Given the description of an element on the screen output the (x, y) to click on. 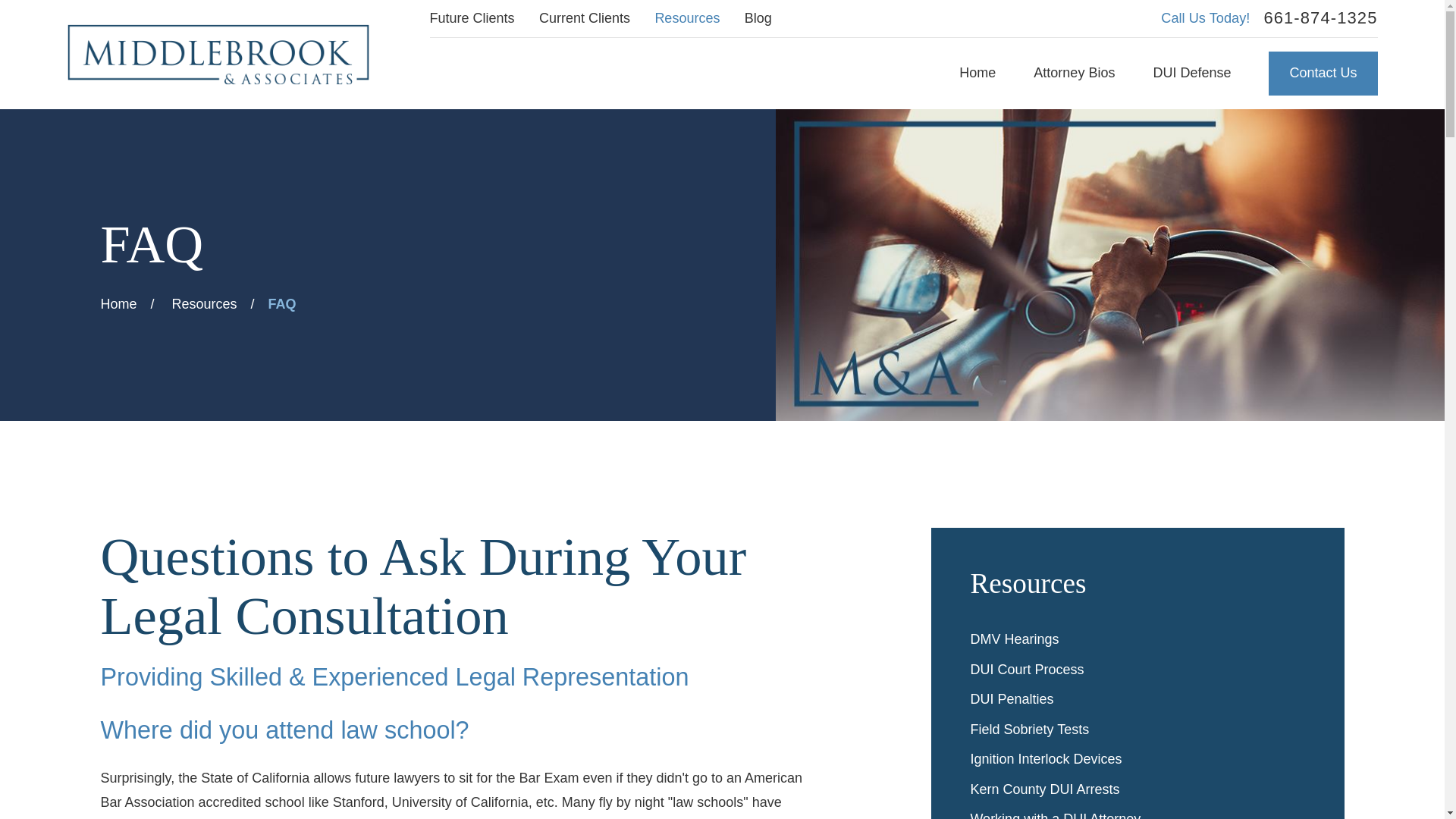
DUI Defense (1191, 73)
Go Home (118, 304)
Current Clients (584, 17)
661-874-1325 (1320, 17)
Blog (757, 17)
Home (217, 54)
Future Clients (471, 17)
Attorney Bios (1074, 73)
Resources (686, 17)
